Given the description of an element on the screen output the (x, y) to click on. 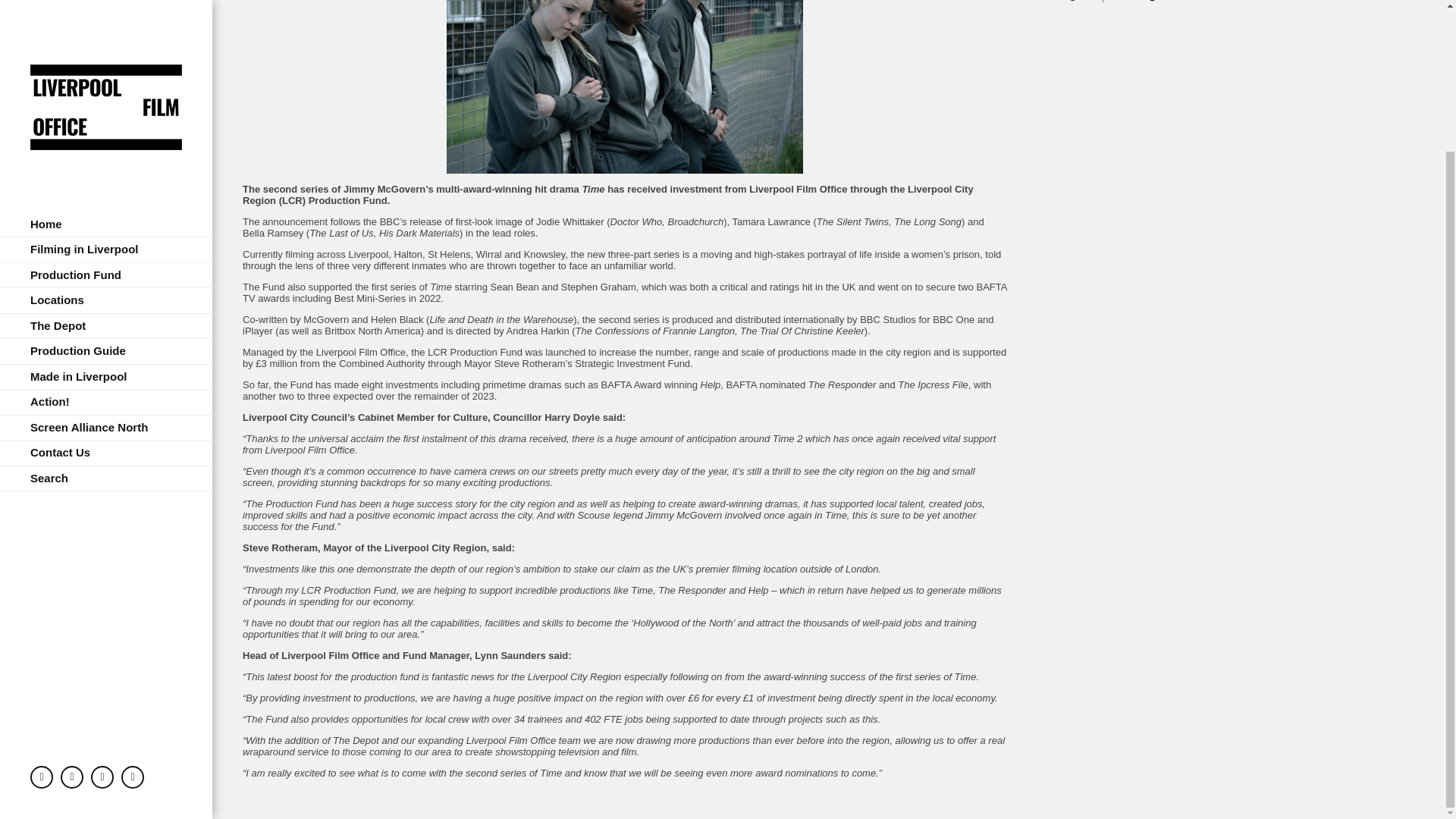
Search (106, 303)
Screen Alliance North (106, 252)
Home (106, 49)
Action! (106, 226)
Made in Liverpool (106, 201)
Contact Us (106, 277)
Liverpool Film Office (106, 3)
Production Guide (106, 176)
Locations (106, 125)
Filming in Liverpool (106, 74)
The Depot (106, 150)
Liverpool Film Office (106, 3)
Production Fund (106, 100)
